Given the description of an element on the screen output the (x, y) to click on. 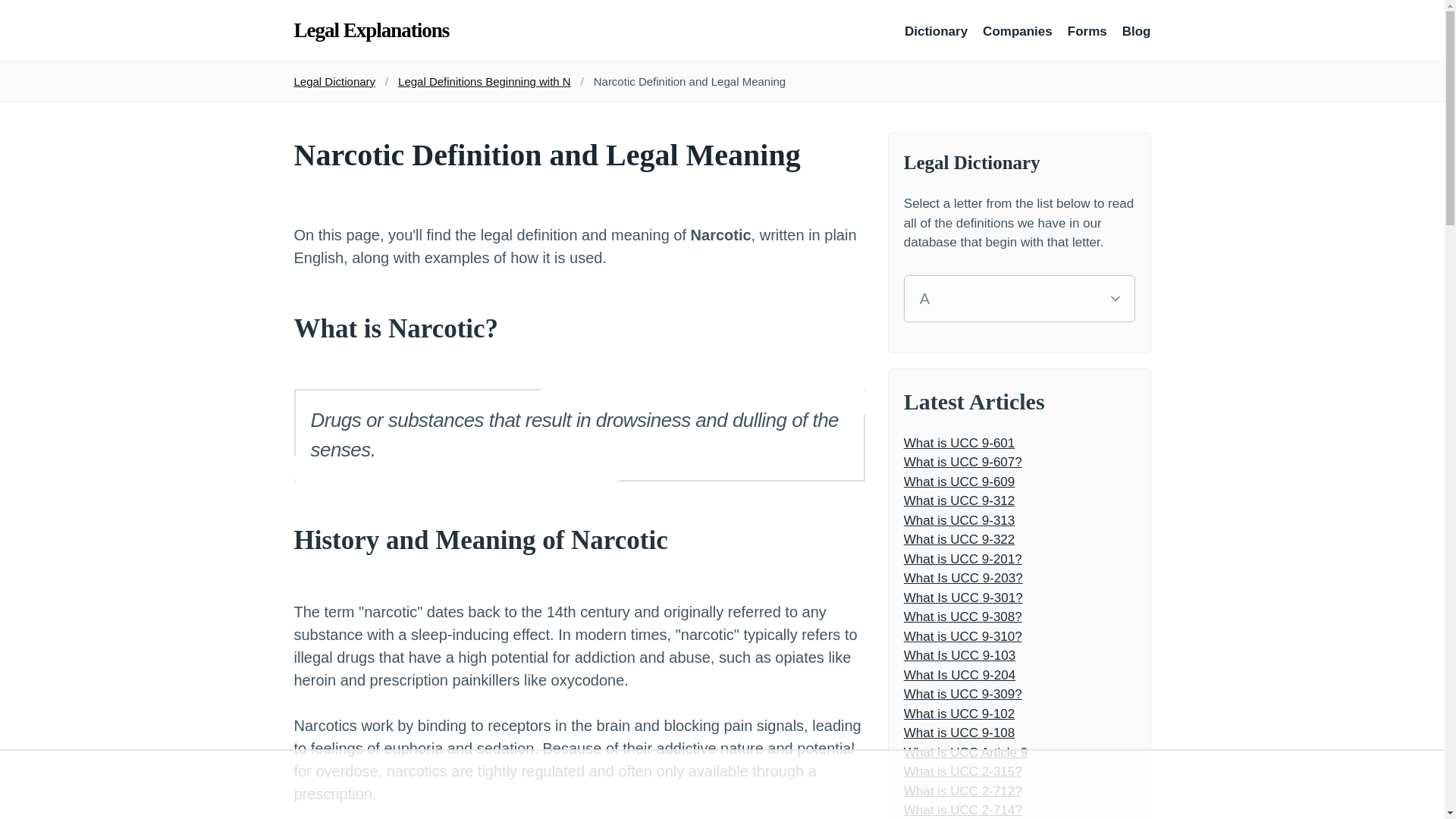
What is UCC Article 9 (1019, 752)
What is UCC 2-712? (1019, 790)
What is UCC 9-309? (1019, 694)
What is UCC 2-714? (1019, 809)
What is UCC 2-315? (1019, 772)
What is UCC 9-108 (1019, 732)
What is UCC 9-322 (1019, 539)
Forms (1087, 31)
What is UCC 9-201? (1019, 558)
Legal Explanations (371, 30)
Legal Definitions Beginning with N (484, 81)
Companies (1017, 30)
What is UCC 9-310? (1019, 636)
What is UCC 9-312 (1019, 501)
